Given the description of an element on the screen output the (x, y) to click on. 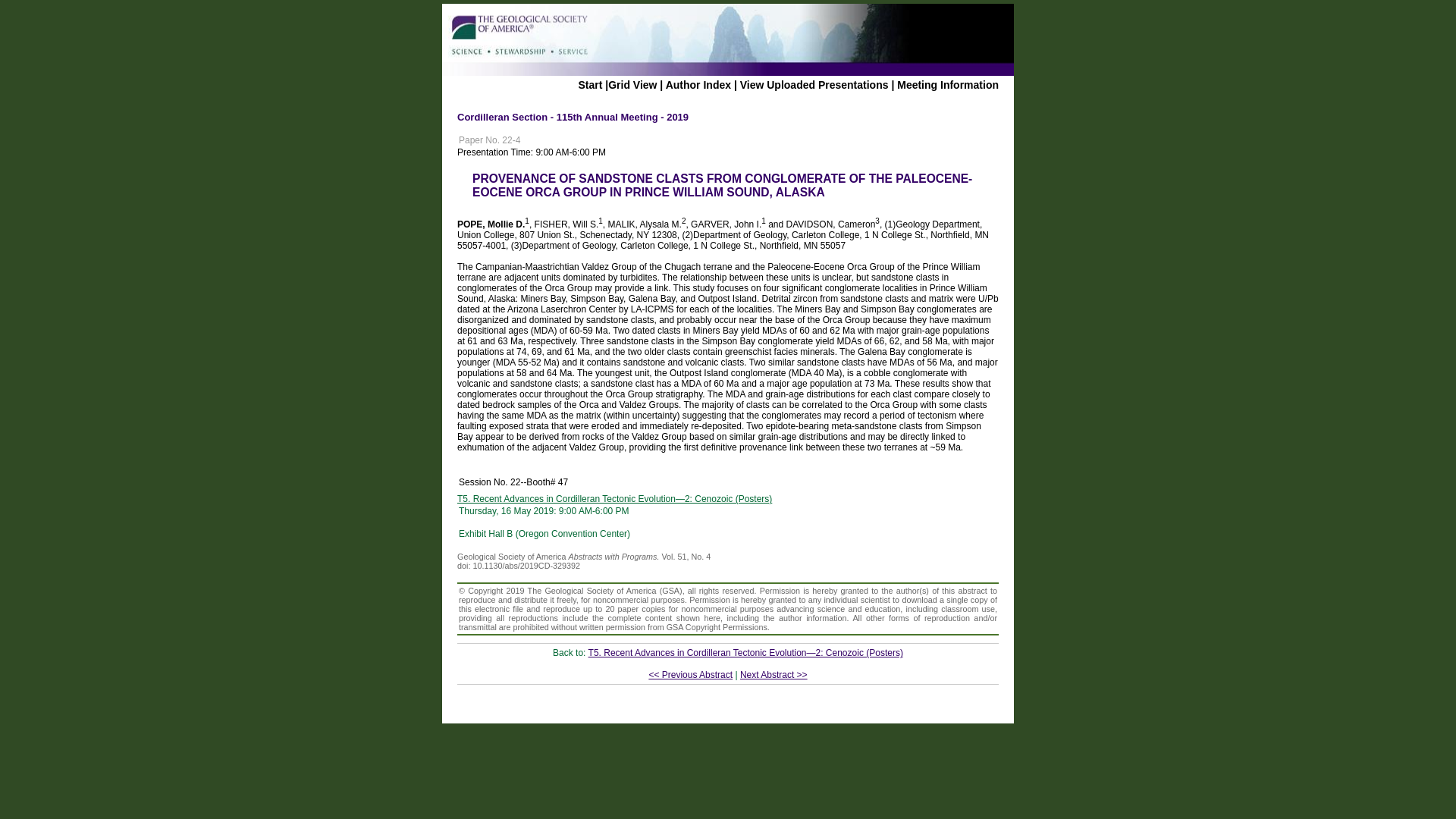
Grid View (632, 84)
Meeting Information (947, 84)
Author Index (697, 84)
View Uploaded Presentations (813, 84)
Start (590, 84)
